Given the description of an element on the screen output the (x, y) to click on. 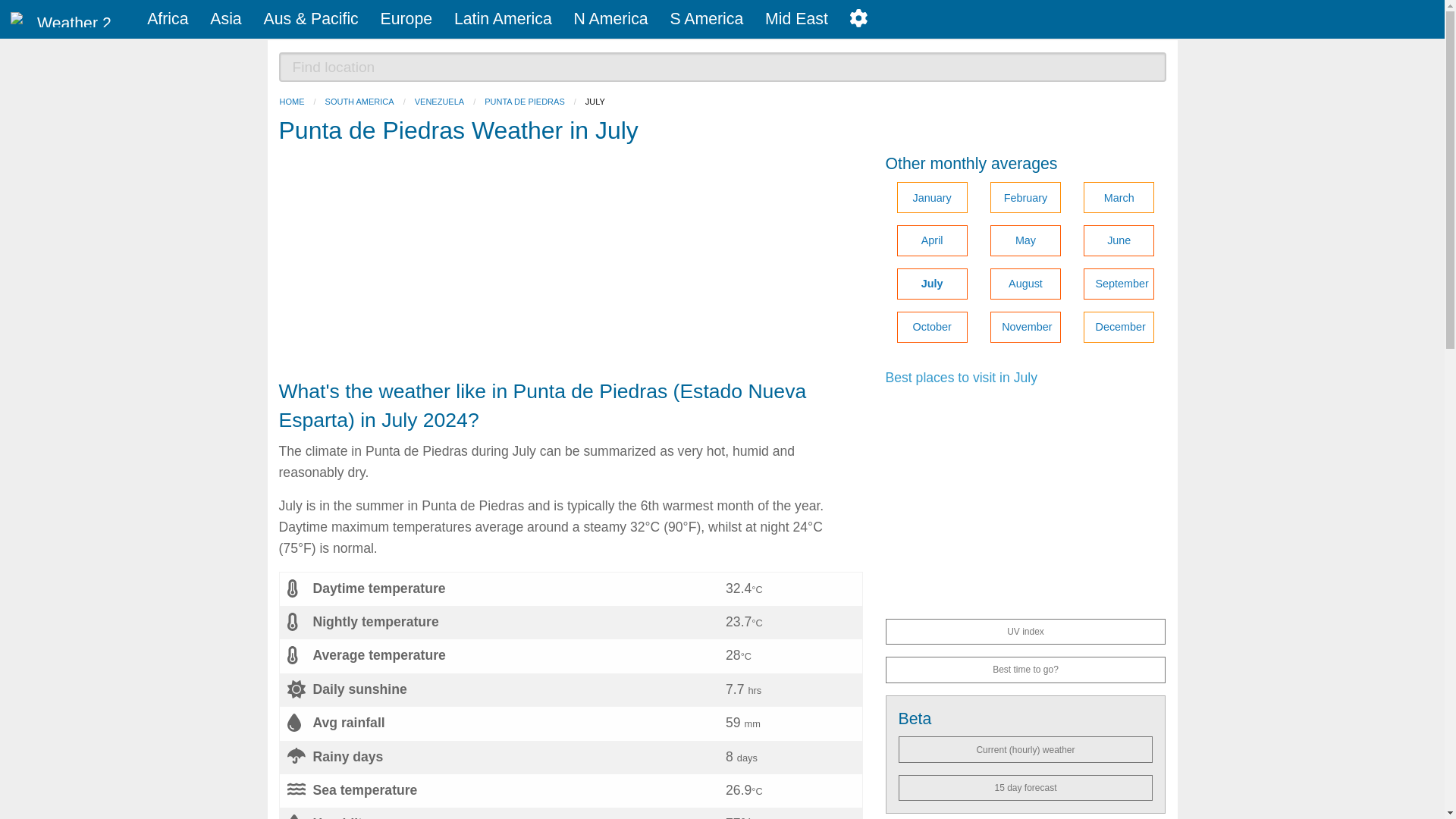
UV index (1025, 631)
S America (706, 19)
August (1025, 283)
January (931, 196)
November (1025, 327)
Mid East (797, 19)
February (1025, 196)
VENEZUELA (439, 101)
October (931, 327)
April (931, 240)
Best time to go? (1025, 669)
HOME (291, 101)
15 day forecast (1025, 787)
PUNTA DE PIEDRAS (524, 101)
July (931, 283)
